Given the description of an element on the screen output the (x, y) to click on. 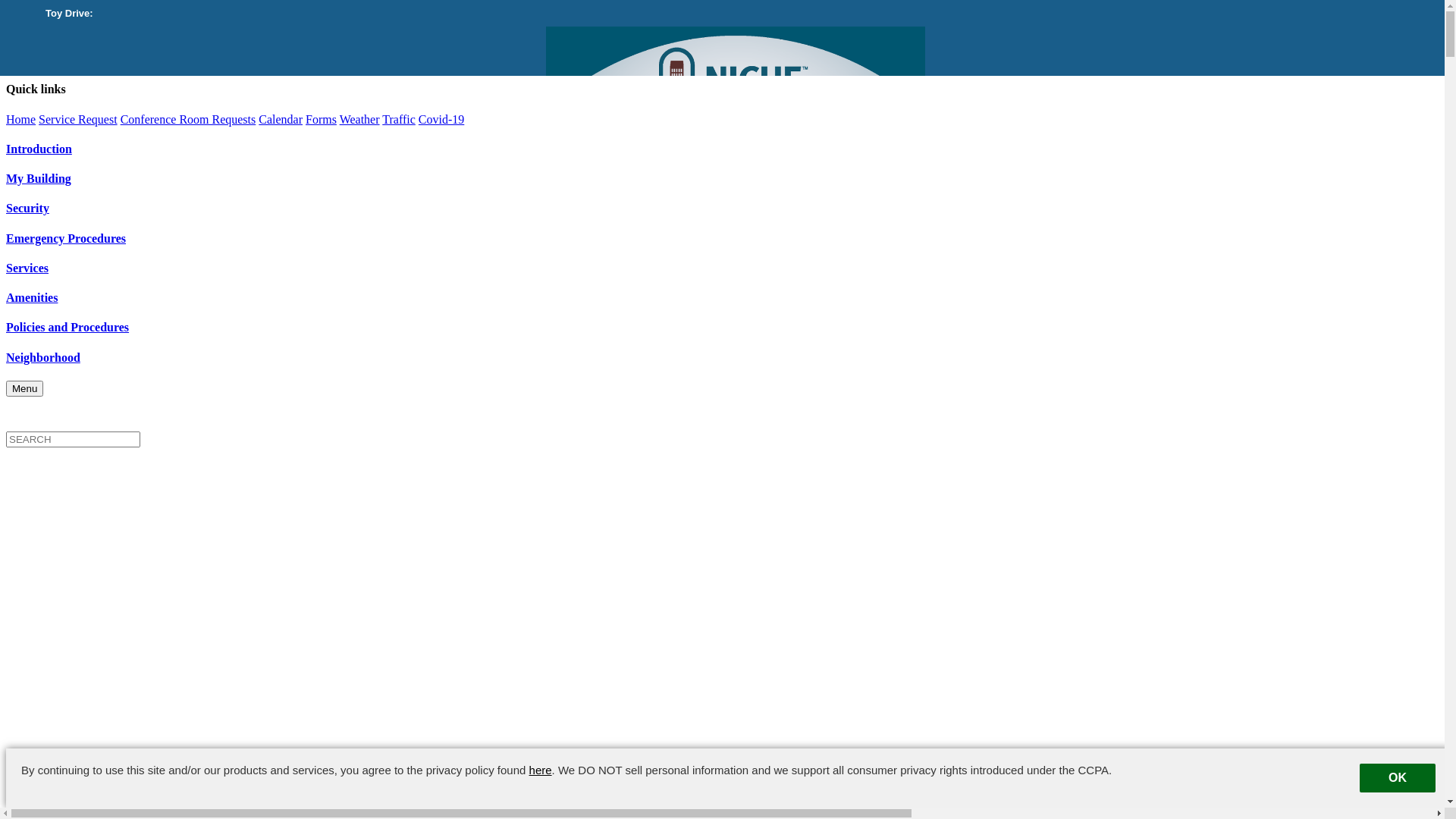
Neighborhood Element type: text (722, 357)
Home Element type: text (20, 118)
Policies and Procedures Element type: text (722, 327)
Covid-19 Element type: text (441, 118)
Emergency Procedures Element type: text (722, 238)
here Element type: text (540, 769)
Introduction Element type: text (722, 149)
Menu Element type: text (24, 388)
Calendar Element type: text (280, 118)
Forms Element type: text (320, 118)
Services Element type: text (722, 268)
Weather Element type: text (359, 118)
My Building Element type: text (722, 178)
Service Request Element type: text (77, 118)
Amenities Element type: text (722, 297)
Traffic Element type: text (398, 118)
Security Element type: text (722, 208)
Building Alerts Element type: hover (722, 37)
Conference Room Requests Element type: text (188, 118)
